Given the description of an element on the screen output the (x, y) to click on. 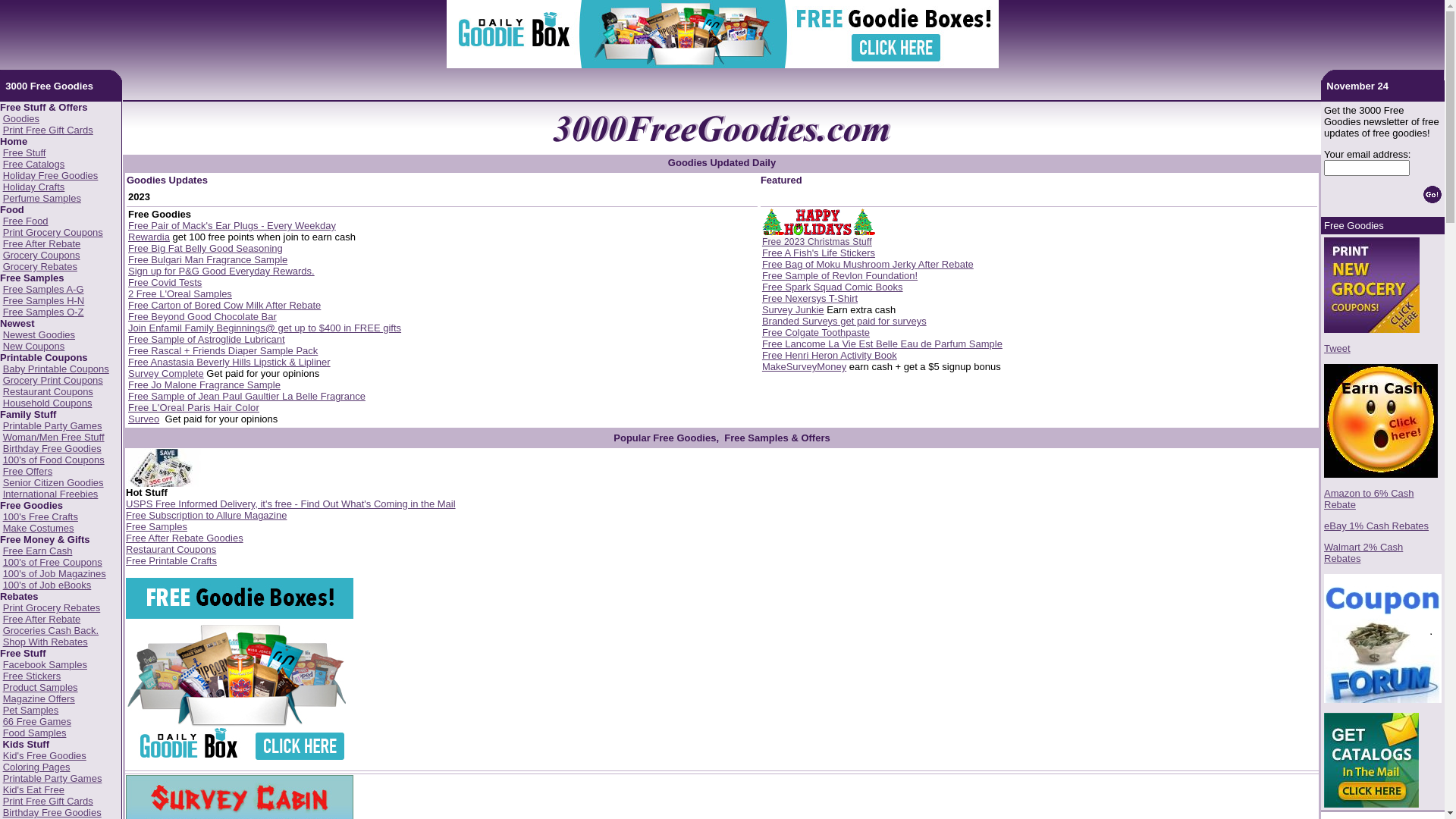
Birthday Free Goodies Element type: text (52, 448)
Free Subscription to Allure Magazine Element type: text (205, 514)
Free Bag of Moku Mushroom Jerky After Rebate Element type: text (867, 263)
Print Free Gift Cards Element type: text (48, 129)
MakeSurveyMoney Element type: text (804, 366)
Free Catalogs Element type: text (34, 163)
Free Bulgari Man Fragrance Sample Element type: text (207, 259)
Free Stuff Element type: text (24, 152)
Join Enfamil Family Beginnings@ g Element type: text (205, 327)
Free After Rebate Element type: text (42, 618)
Free Food Element type: text (25, 220)
Restaurant Coupons Element type: text (48, 391)
Print Free Gift Cards Element type: text (48, 800)
Newest Goodies Element type: text (39, 334)
100's of Free Coupons Element type: text (52, 561)
Household Coupons Element type: text (47, 402)
Free Lancome La Vie Est Belle Eau de Parfum Sample Element type: text (882, 343)
Survey Complete Element type: text (165, 373)
Free After Rebate Element type: text (42, 243)
Walmart 2% Cash Rebates Element type: text (1363, 552)
Woman/Men Free Stuff Element type: text (53, 436)
Free Nexersys T-Shirt Element type: text (809, 298)
Magazine Offers Element type: text (39, 698)
Free After Rebate Goodies Element type: text (184, 537)
Grocery Rebates Element type: text (40, 266)
Free Anastasia Beverly Hills Lipstick & Lipliner Element type: text (229, 361)
100's of Job eBooks Element type: text (47, 584)
100's of Food Coupons Element type: text (53, 459)
Print Grocery Rebates Element type: text (51, 607)
Goodies Element type: text (21, 118)
et up to $400 in FREE gifts Element type: text (342, 327)
Surveo Element type: text (143, 418)
Amazon to 6% Cash Rebate Element type: text (1369, 498)
Free Beyond Good Chocolate Bar Element type: text (202, 316)
Free Carton of Bored Cow Milk After Rebate Element type: text (224, 304)
100's of Job Magazines Element type: text (54, 573)
Free A Fish's Life Stickers Element type: text (818, 252)
Free Colgate Toothpaste Element type: text (815, 332)
Shop With Rebates Element type: text (45, 641)
Printable Party Games Element type: text (52, 425)
Free Spark Squad Comic Books Element type: text (832, 286)
Grocery Print Coupons Element type: text (53, 379)
Free Rascal + Friends Diaper Sample Pack Element type: text (222, 350)
100's Free Crafts Element type: text (40, 516)
Free Sample of Revlon Foundation! Element type: text (839, 275)
Kid's Eat Free Element type: text (33, 789)
Food Samples Element type: text (34, 732)
Grocery Coupons Element type: text (41, 254)
Coloring Pages Element type: text (36, 766)
Free Jo Malone Fragrance Sample Element type: text (204, 384)
Free Stickers Element type: text (32, 675)
eBay 1% Cash Rebates Element type: text (1376, 525)
Birthday Free Goodies Element type: text (52, 812)
Holiday Free Goodies Element type: text (50, 175)
Free Samples Element type: text (156, 526)
66 Free Games Element type: text (37, 721)
Survey Junkie Element type: text (793, 309)
Free Sample of Astroglide Lubricant Element type: text (206, 339)
Printable Party Games Element type: text (52, 778)
Print Grocery Coupons Element type: text (53, 232)
Restaurant Coupons Element type: text (170, 549)
Branded Surveys get paid for surveys Element type: text (844, 320)
New Coupons Element type: text (34, 345)
Free Sample of Jean Paul Gaultier La Belle Fragrance Element type: text (246, 395)
Senior Citizen Goodies Element type: text (53, 482)
Kid's Free Goodies Element type: text (44, 755)
Rewardia Element type: text (148, 236)
Free 2023 Christmas Stuff Element type: text (817, 241)
Holiday Crafts Element type: text (34, 186)
Free Printable Crafts Element type: text (170, 560)
Free Earn Cash Element type: text (37, 550)
Free Samples A-G Element type: text (43, 288)
Tweet Element type: text (1337, 348)
Free Covid Tests Element type: text (164, 282)
Free Samples H-N Element type: text (43, 300)
Baby Printable Coupons Element type: text (56, 368)
Free Pair of Mack's Ear Plugs - Every Weekday Element type: text (231, 225)
Free Offers Element type: text (28, 470)
2 Free L'Oreal Samples Element type: text (180, 293)
Free L'Oreal Paris Hair Color Element type: text (193, 407)
Facebook Samples Element type: text (45, 664)
Make Costumes Element type: text (38, 527)
Perfume Samples Element type: text (42, 197)
International Freebies Element type: text (50, 493)
Sign up for P&G Good Everyday Rewards. Element type: text (221, 270)
Free Henri Heron Activity Book Element type: text (829, 354)
Free Samples O-Z Element type: text (43, 311)
Product Samples Element type: text (40, 687)
Free Big Fat Belly Good Seasoning Element type: text (205, 248)
Pet Samples Element type: text (31, 709)
Groceries Cash Back. Element type: text (50, 630)
